Given the description of an element on the screen output the (x, y) to click on. 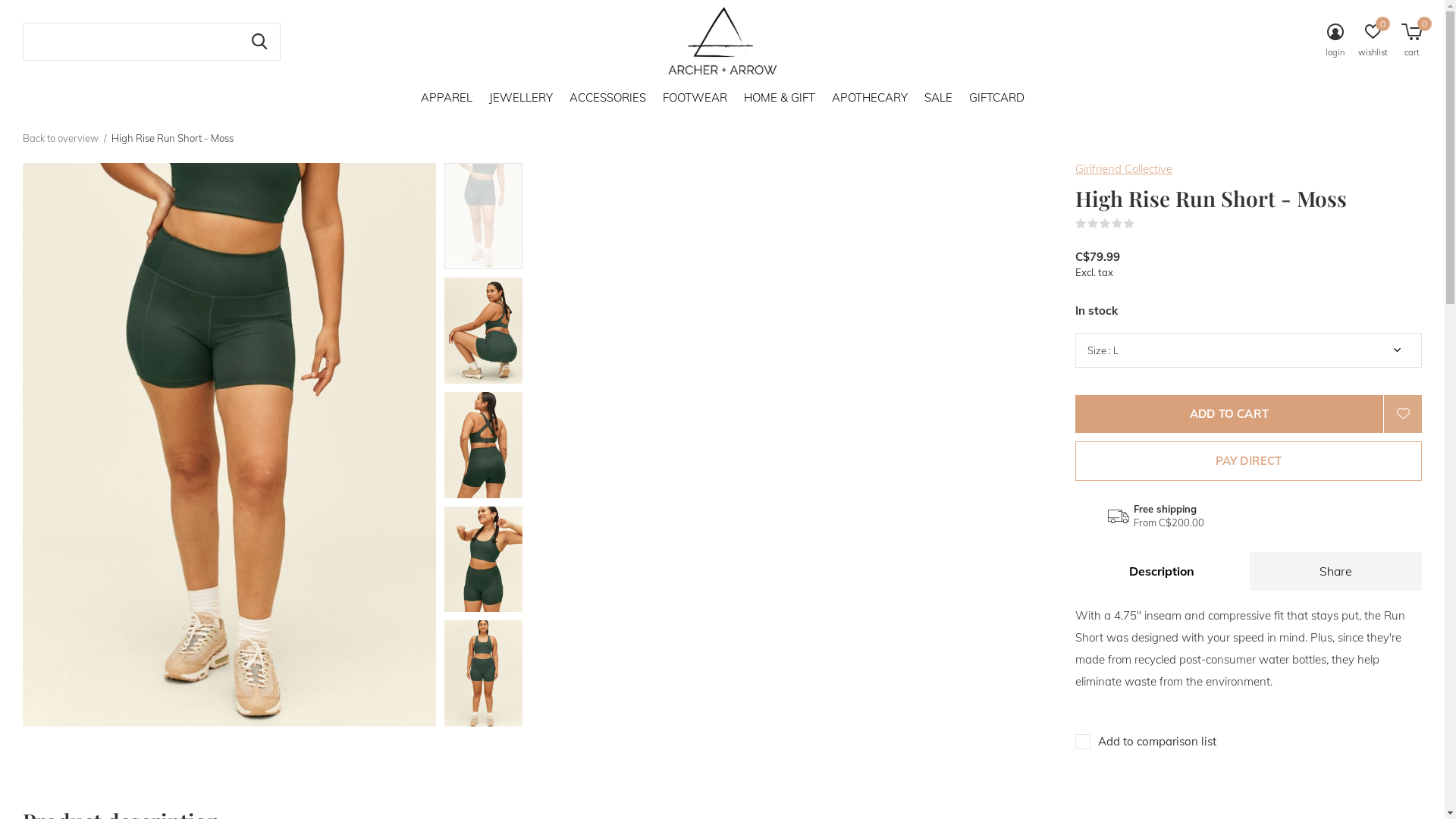
wishlist
0 Element type: text (1372, 42)
PAY DIRECT Element type: text (1248, 460)
SALE Element type: text (937, 96)
ACCESSORIES Element type: text (606, 96)
Back to overview Element type: text (60, 137)
(0) Element type: text (1144, 223)
login Element type: text (1334, 42)
HOME & GIFT Element type: text (778, 96)
Girlfriend Collective Element type: text (1123, 168)
FOOTWEAR Element type: text (694, 96)
Description Element type: text (1161, 571)
ADD TO CART Element type: text (1229, 414)
cart
0 Element type: text (1411, 42)
APPAREL Element type: text (445, 96)
GIFTCARD Element type: text (996, 96)
APOTHECARY Element type: text (868, 96)
JEWELLERY Element type: text (520, 96)
Share Element type: text (1335, 571)
SEARCH Element type: text (259, 41)
